Given the description of an element on the screen output the (x, y) to click on. 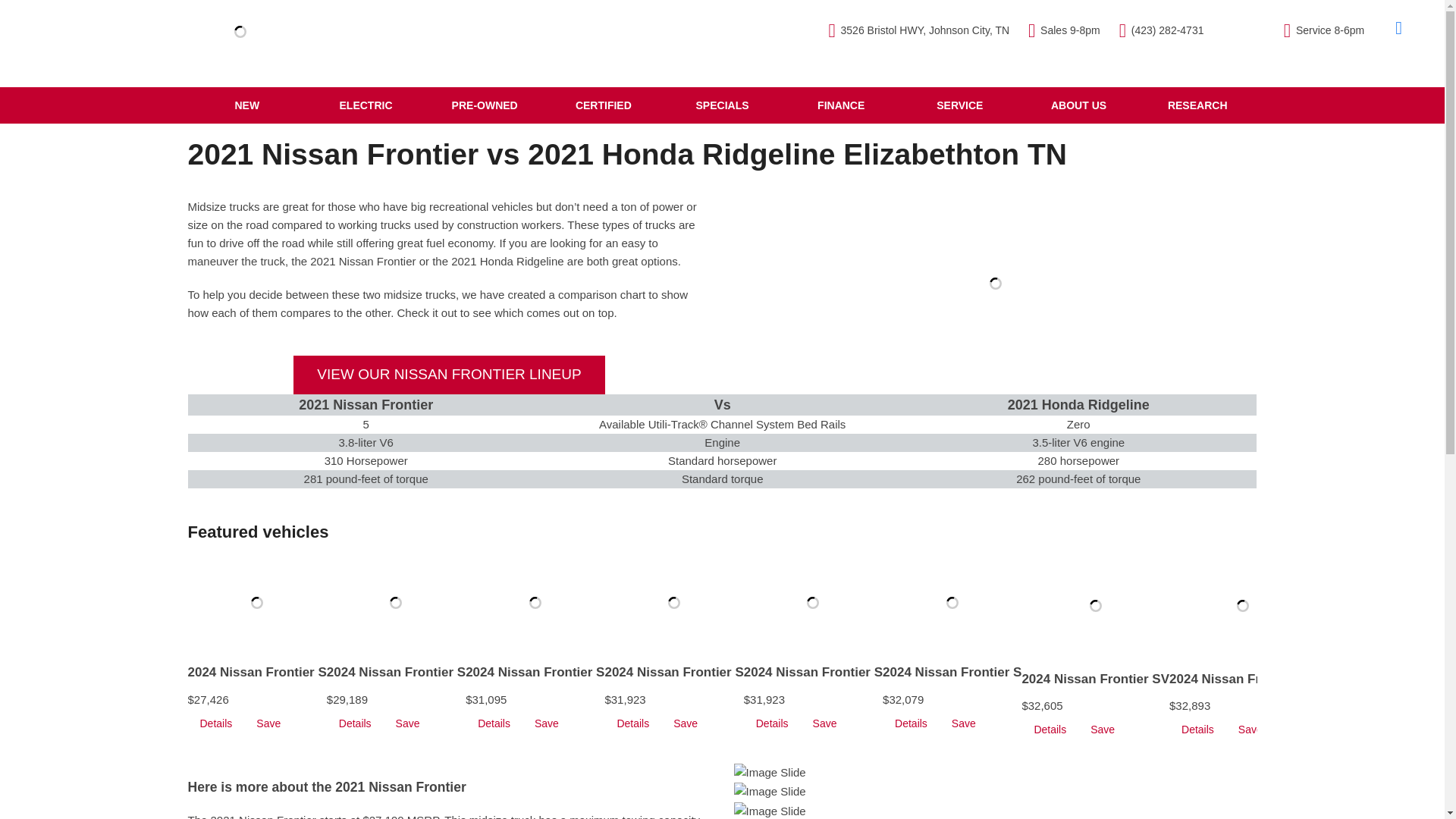
NEW (247, 104)
Sales 9-8pm (1063, 30)
Image Slide (769, 772)
Service 8-6pm (1324, 30)
Image Slide (769, 791)
ELECTRIC (365, 104)
Image Slide (769, 810)
3526 Bristol HWY, Johnson City, TN (918, 30)
